Given the description of an element on the screen output the (x, y) to click on. 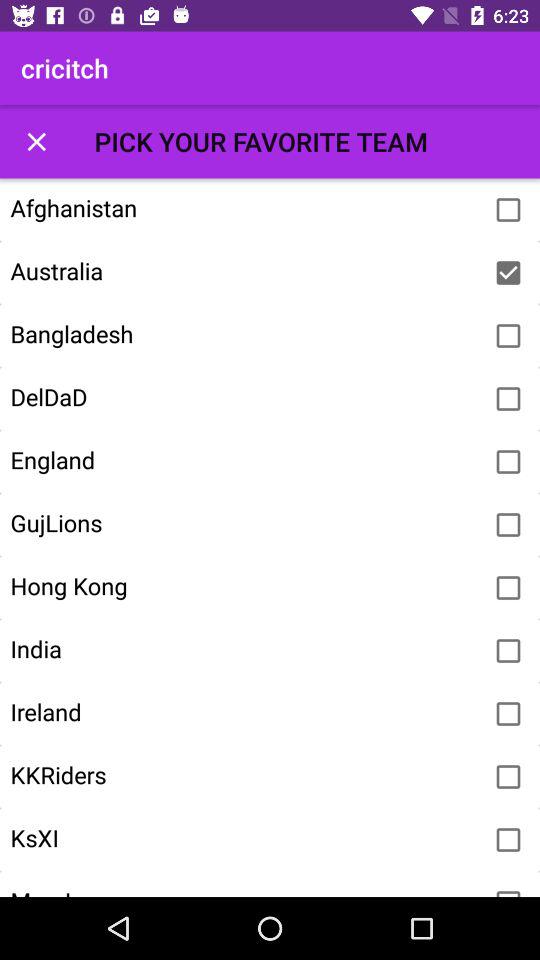
sets favorite team to bengladesh (508, 336)
